Given the description of an element on the screen output the (x, y) to click on. 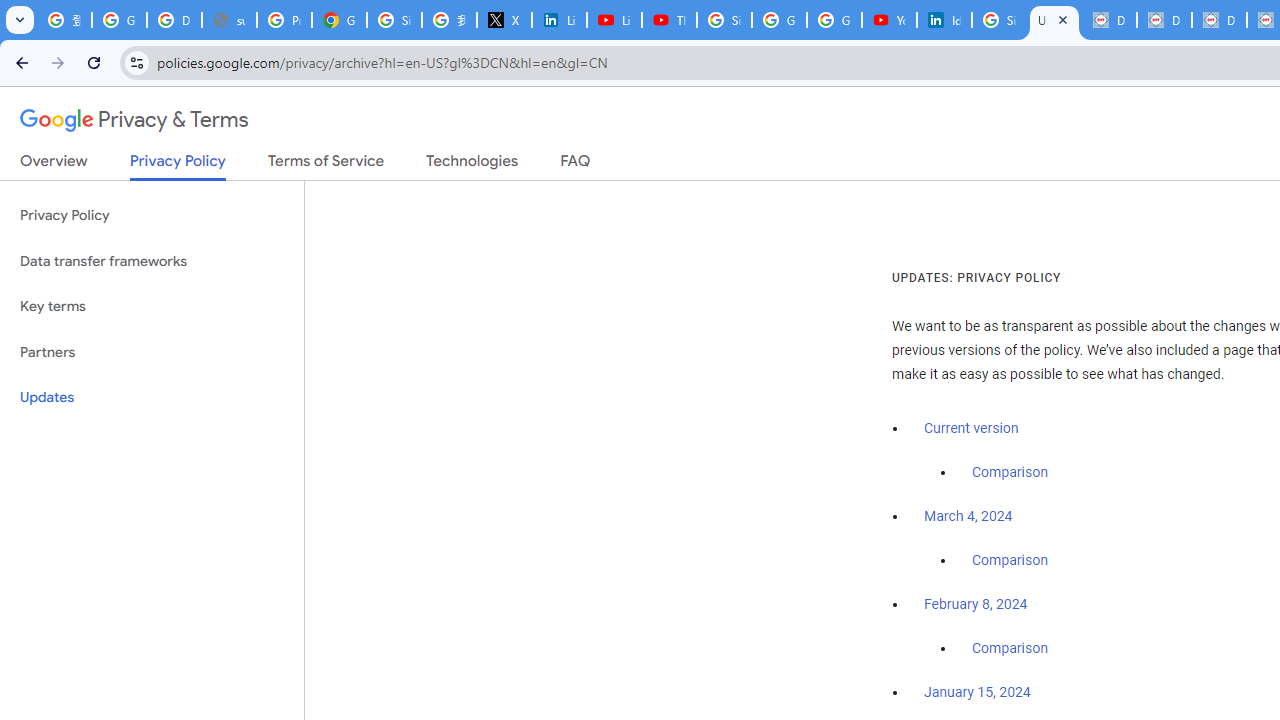
Data transfer frameworks (152, 261)
January 15, 2024 (977, 693)
support.google.com - Network error (229, 20)
Data Privacy Framework (1163, 20)
X (504, 20)
LinkedIn Privacy Policy (559, 20)
Data Privacy Framework (1218, 20)
